Given the description of an element on the screen output the (x, y) to click on. 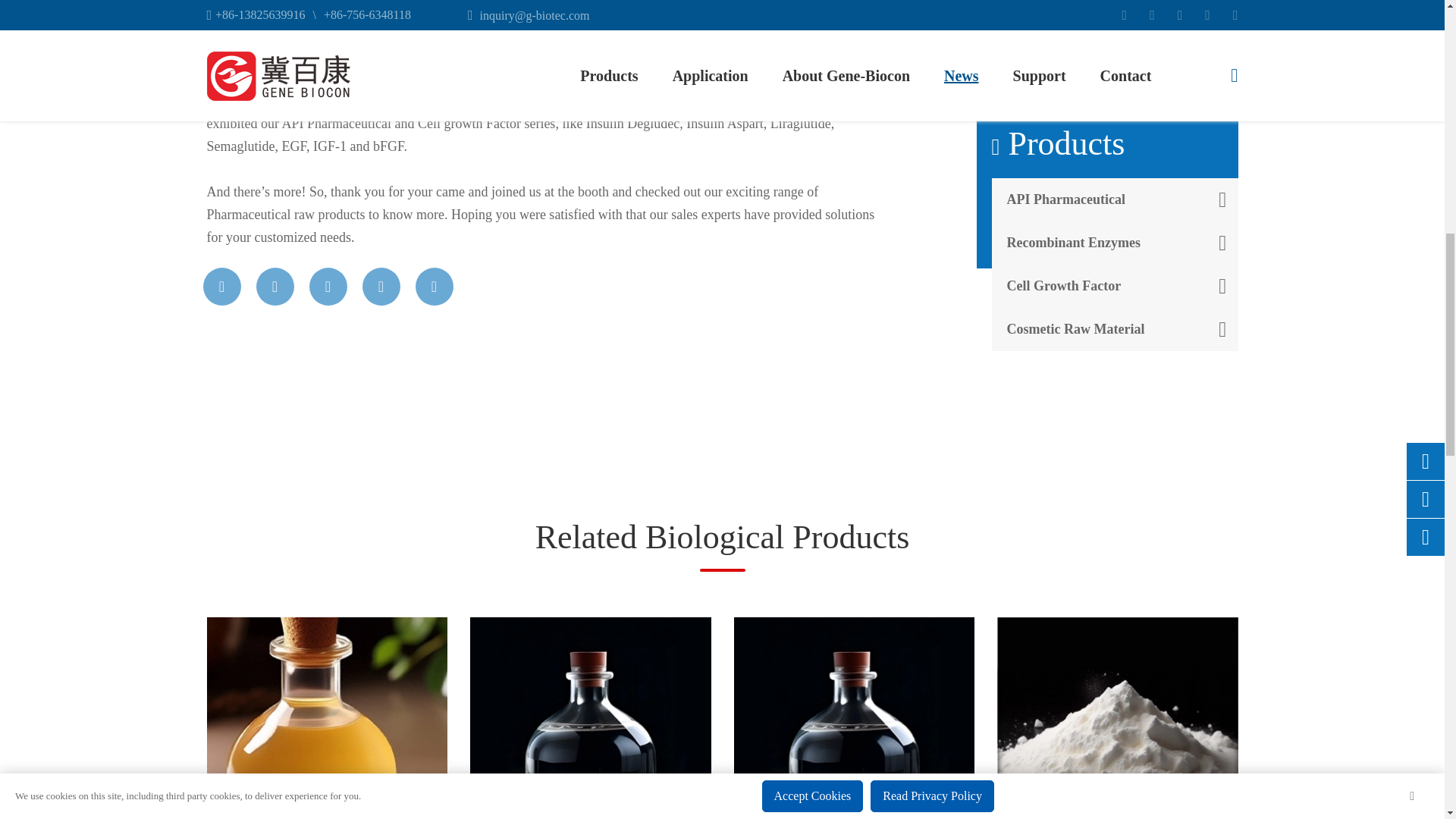
Supanflamin (590, 718)
3-O-Ethyl-L-ascorbic Acid (854, 718)
Yeast Extract Essence YE500 (326, 718)
GLP-1 Products (1118, 718)
